Given the description of an element on the screen output the (x, y) to click on. 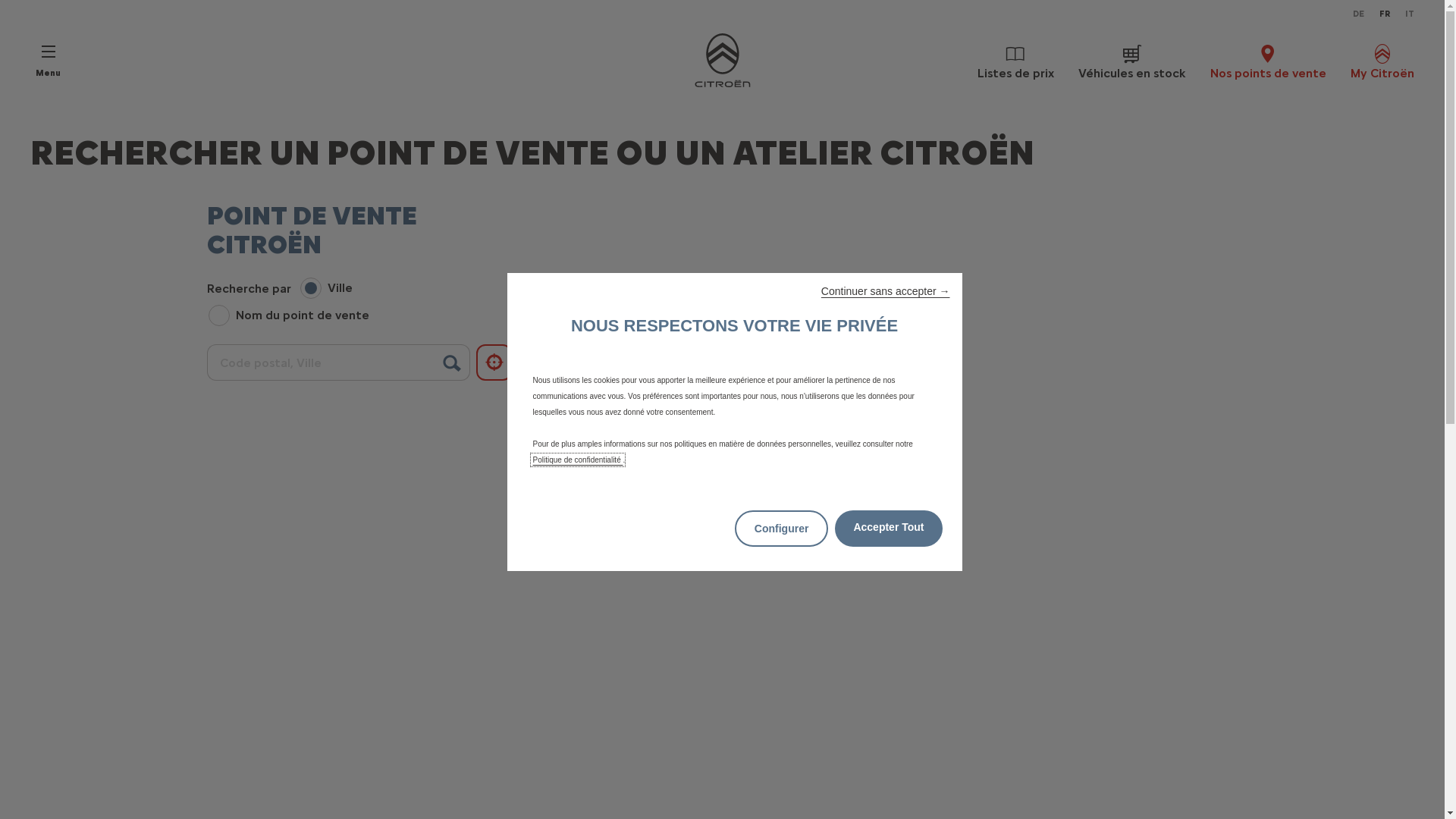
Utiliser mon emplacement actuel Element type: hover (493, 362)
Accepter Tout Element type: text (887, 528)
DE Element type: text (1358, 13)
Configurer Element type: text (781, 528)
FR Element type: text (1384, 13)
Menu Element type: text (47, 61)
Nos points de vente Element type: text (1268, 60)
ACCUEIL Element type: hover (721, 61)
IT Element type: text (1409, 13)
Listes de prix Element type: text (1015, 60)
